Given the description of an element on the screen output the (x, y) to click on. 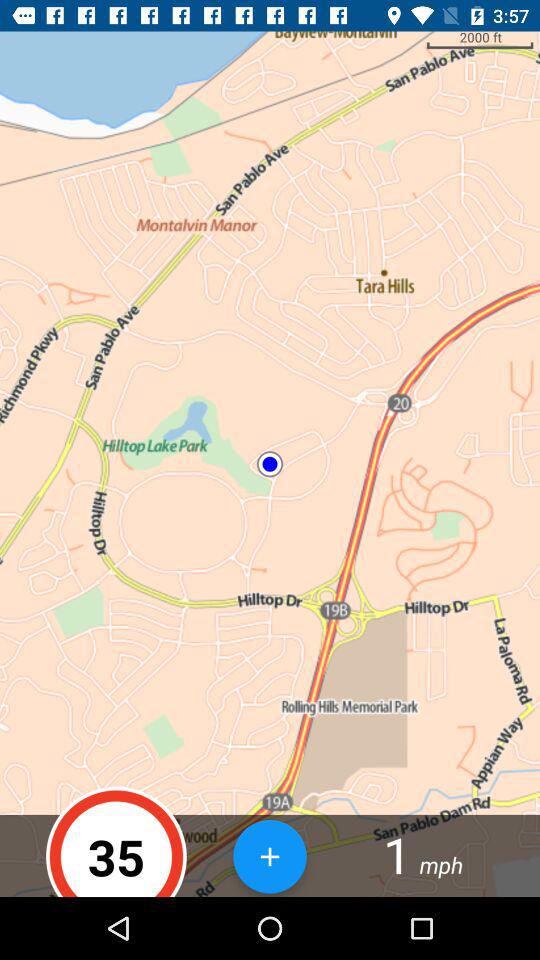
press the icon next to 1 item (269, 856)
